Given the description of an element on the screen output the (x, y) to click on. 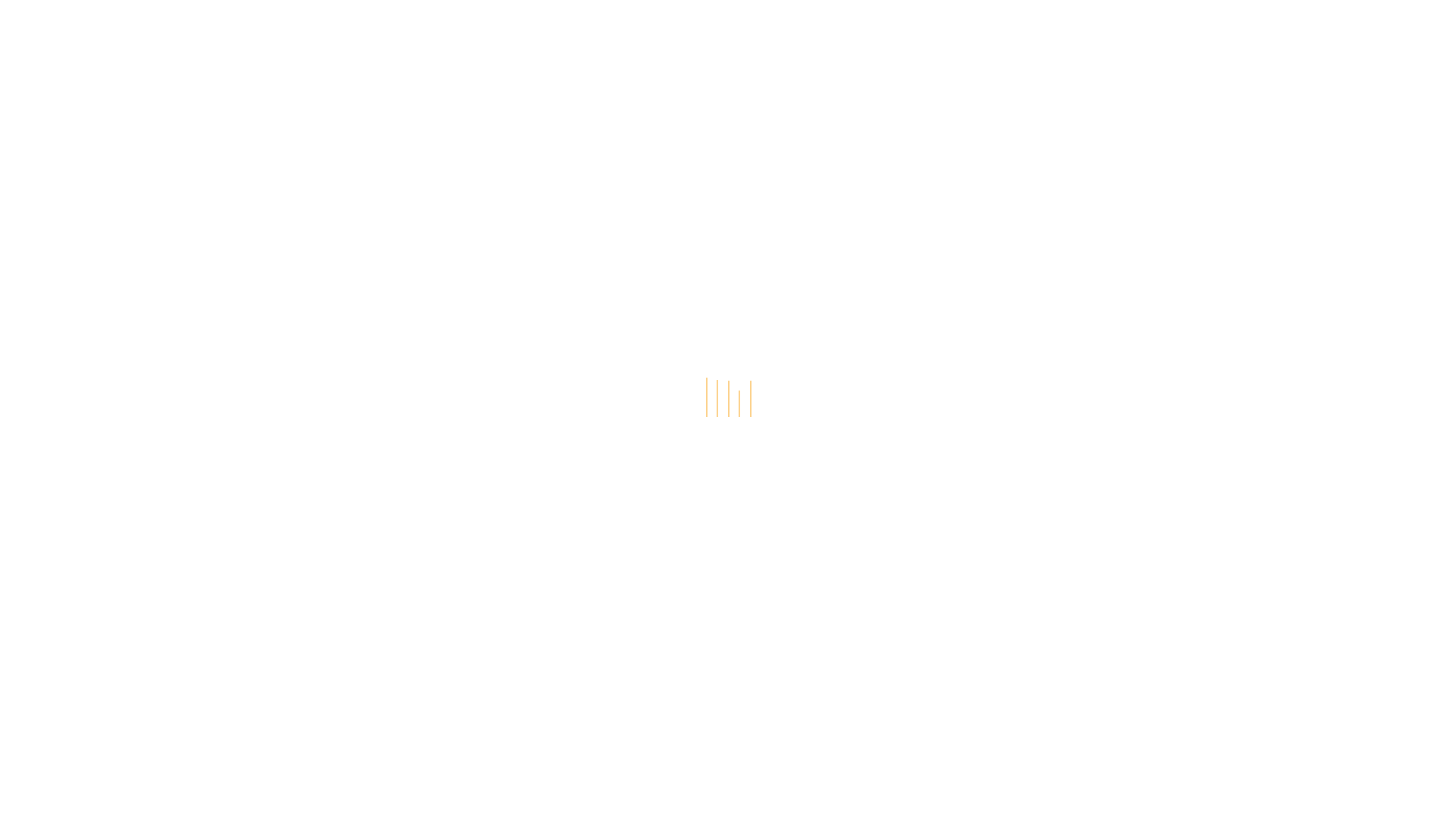
ABOUT US Element type: text (395, 53)
HOME Element type: text (324, 53)
SERVICES Element type: text (1212, 30)
CONTACT US Element type: text (492, 72)
ABOUT US Element type: text (868, 30)
BRANDS Element type: text (407, 72)
NEWS/MEDIA Element type: text (1112, 30)
CONTACT US Element type: text (1390, 30)
SERVICES Element type: text (333, 72)
HOW TO ARTICLES Element type: text (501, 53)
HOW TO ARTICLES Element type: text (986, 30)
BRANDS Element type: text (1296, 30)
HOME Element type: text (787, 30)
Skip to content Element type: text (0, 0)
NEWS/MEDIA Element type: text (614, 53)
newbrands@40-80spirits.com Element type: text (889, 53)
40-80 Spirits Group Element type: text (121, 19)
